Given the description of an element on the screen output the (x, y) to click on. 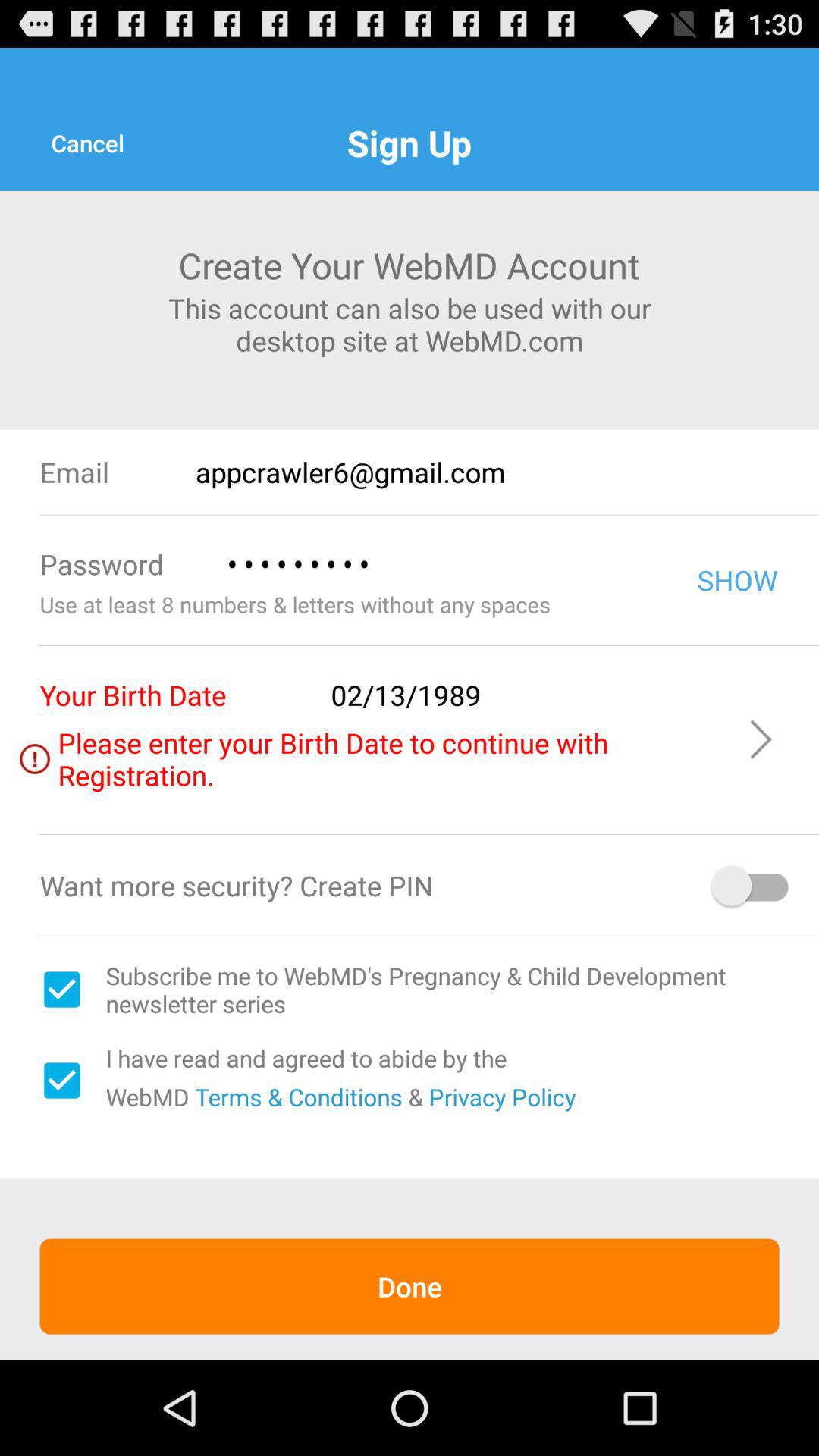
create a pin (751, 885)
